Given the description of an element on the screen output the (x, y) to click on. 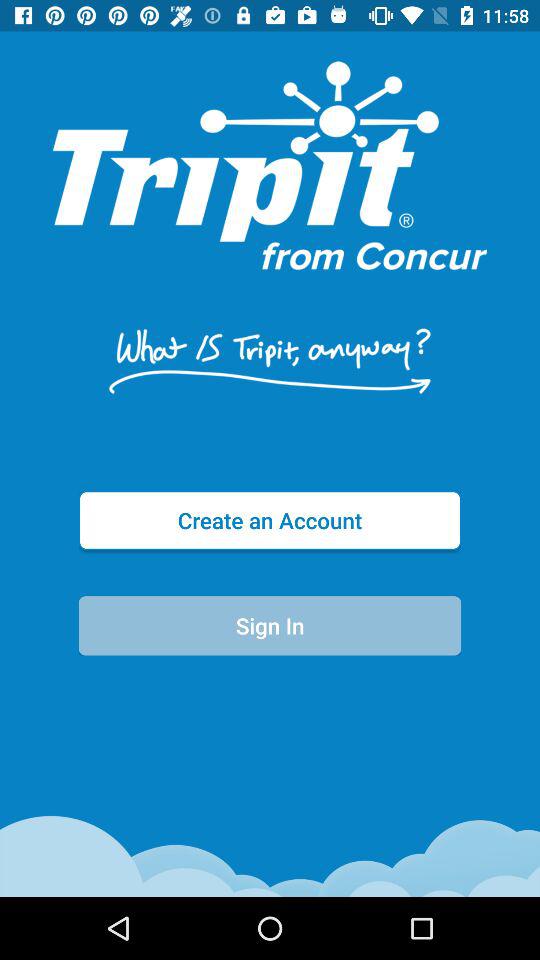
turn off the create an account item (269, 520)
